Given the description of an element on the screen output the (x, y) to click on. 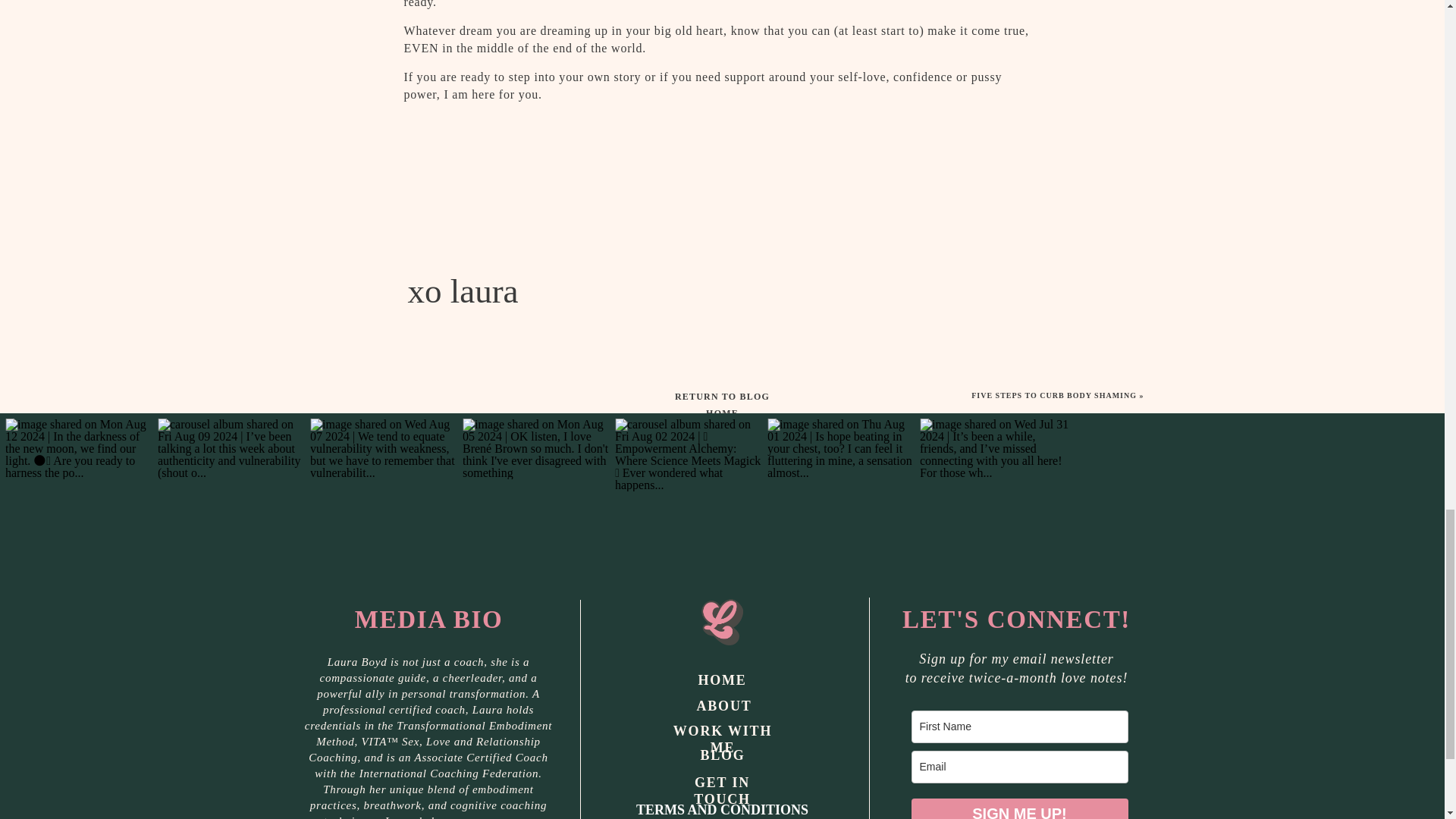
RETURN TO BLOG HOME (721, 396)
SIGN ME UP! (1019, 808)
GET IN TOUCH (722, 783)
TERMS AND CONDITIONS (721, 810)
WORK WITH ME (722, 730)
ABOUT (721, 705)
FIVE STEPS TO CURB BODY SHAMING (1054, 395)
BLOG (721, 755)
HOME (721, 680)
